Given the description of an element on the screen output the (x, y) to click on. 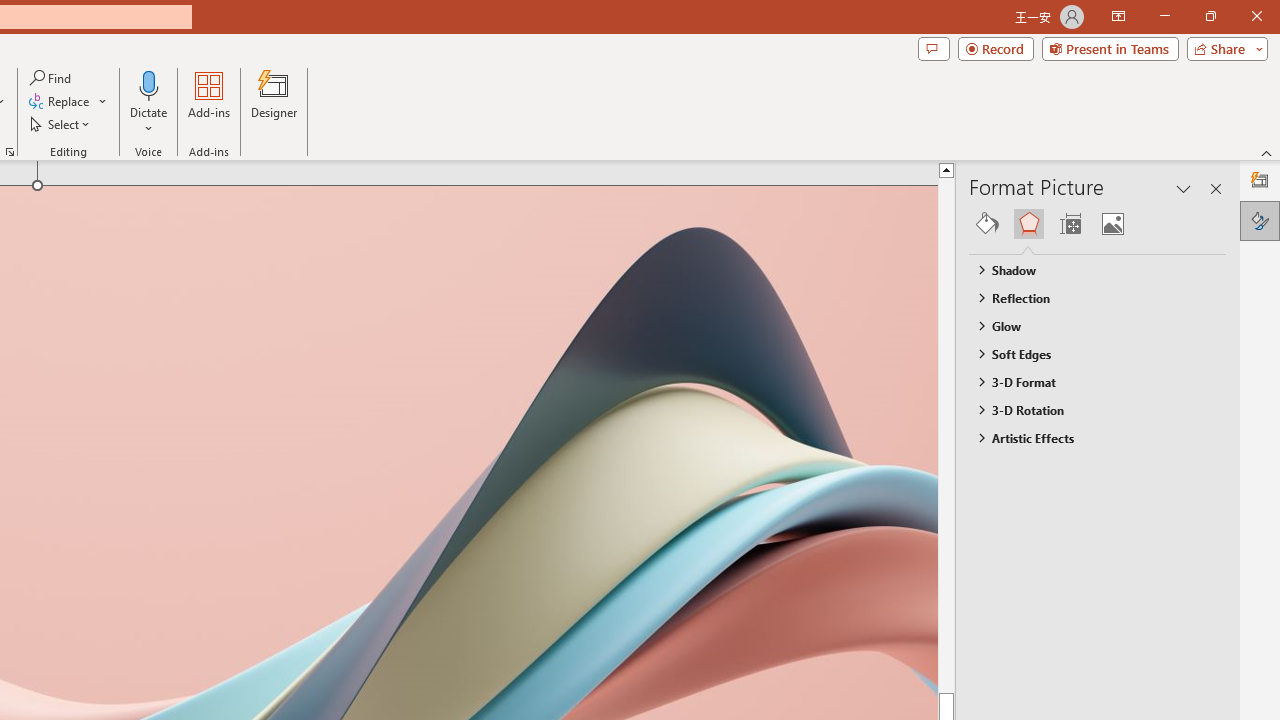
Soft Edges (1088, 353)
Glow (1088, 325)
Picture (1112, 223)
Fill & Line (987, 223)
Size & Properties (1070, 223)
3-D Rotation (1088, 410)
